Given the description of an element on the screen output the (x, y) to click on. 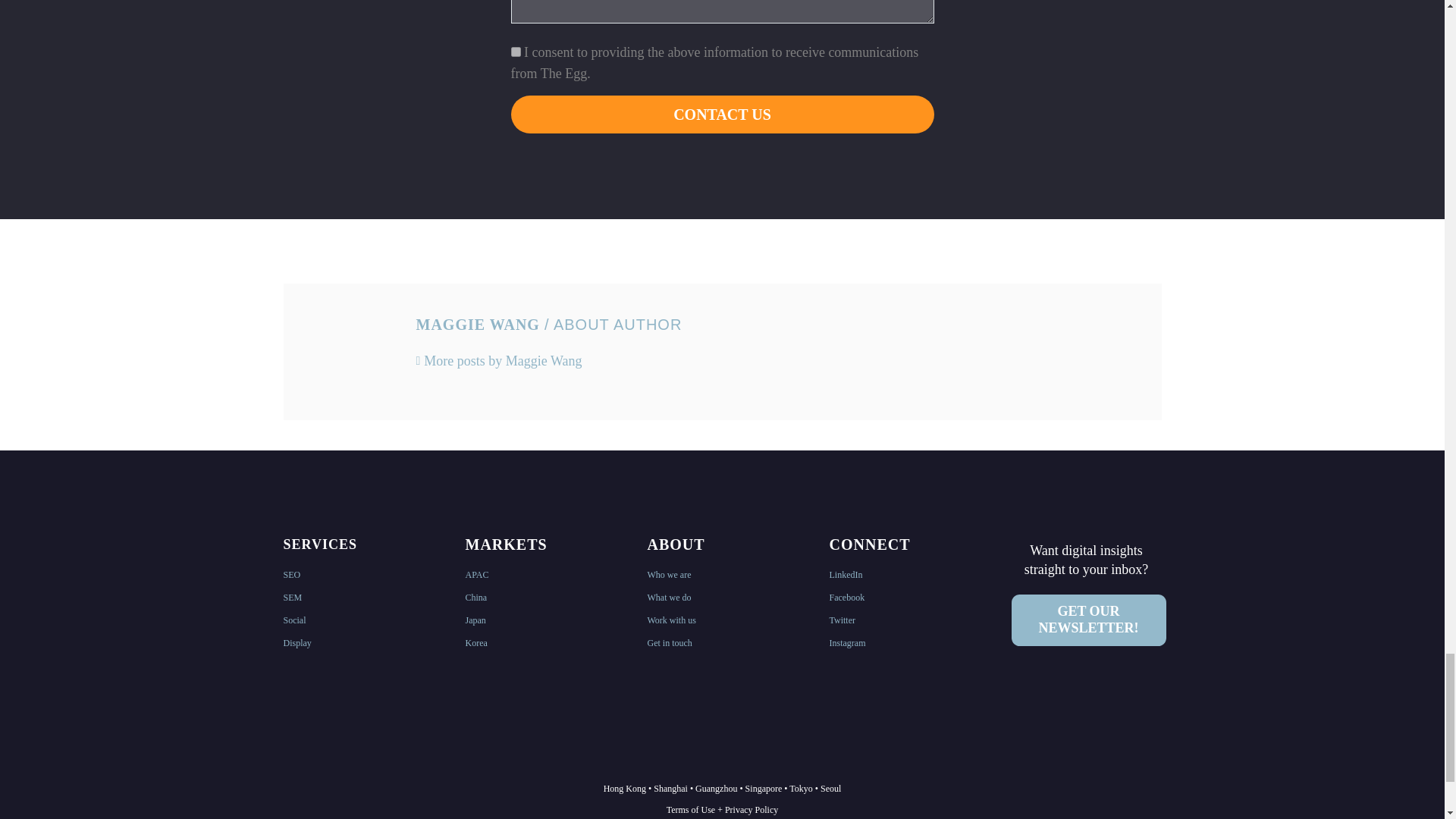
Contact Us (722, 114)
1 (516, 51)
